Given the description of an element on the screen output the (x, y) to click on. 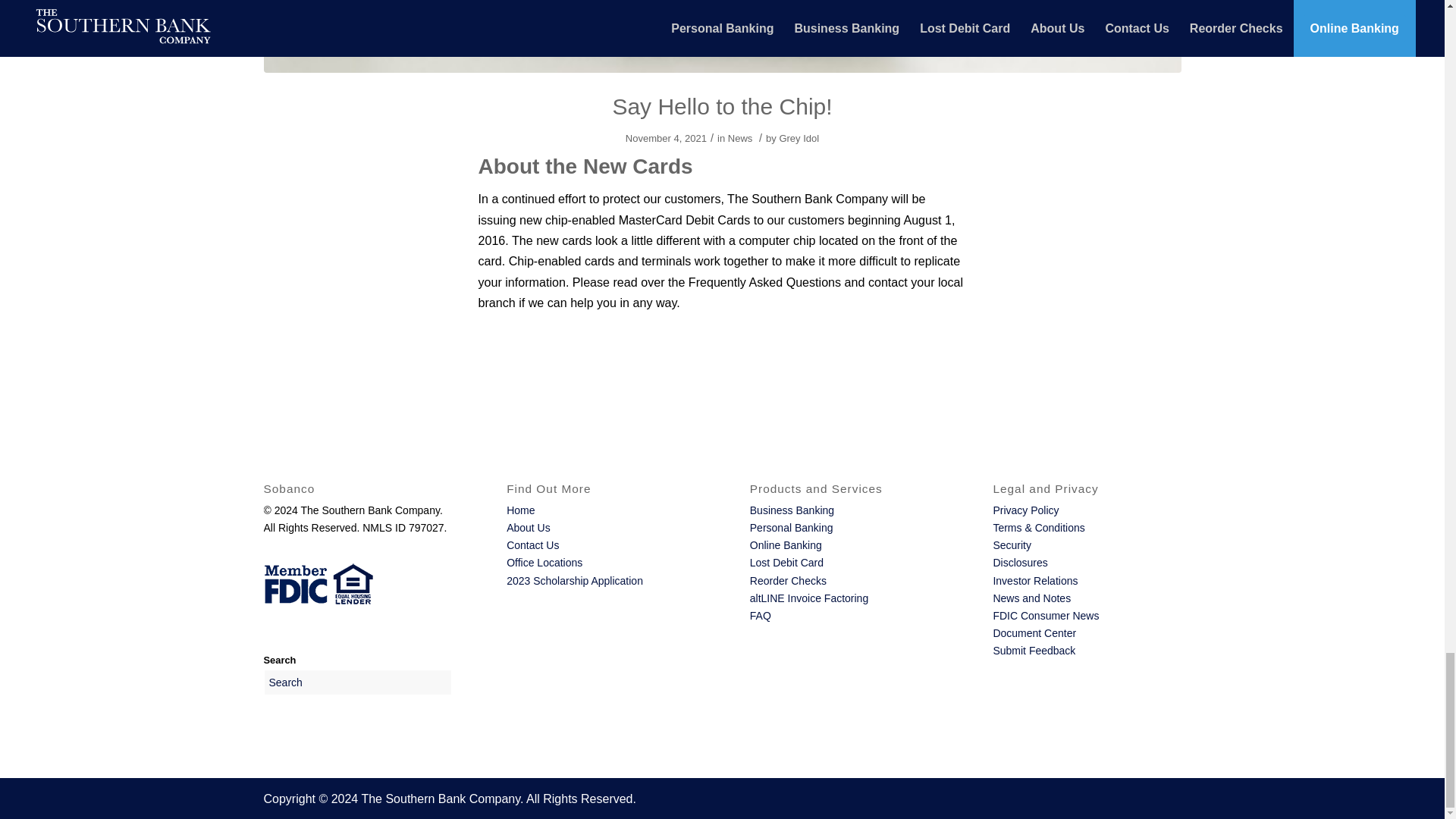
News (740, 138)
Grey Idol (798, 138)
Home (520, 510)
Contact Us (532, 544)
2023 Scholarship Application (574, 580)
About Us (528, 527)
Office Locations (544, 562)
Personal Banking (790, 527)
Business Banking (791, 510)
Say Hello to the Chip! (721, 106)
